Given the description of an element on the screen output the (x, y) to click on. 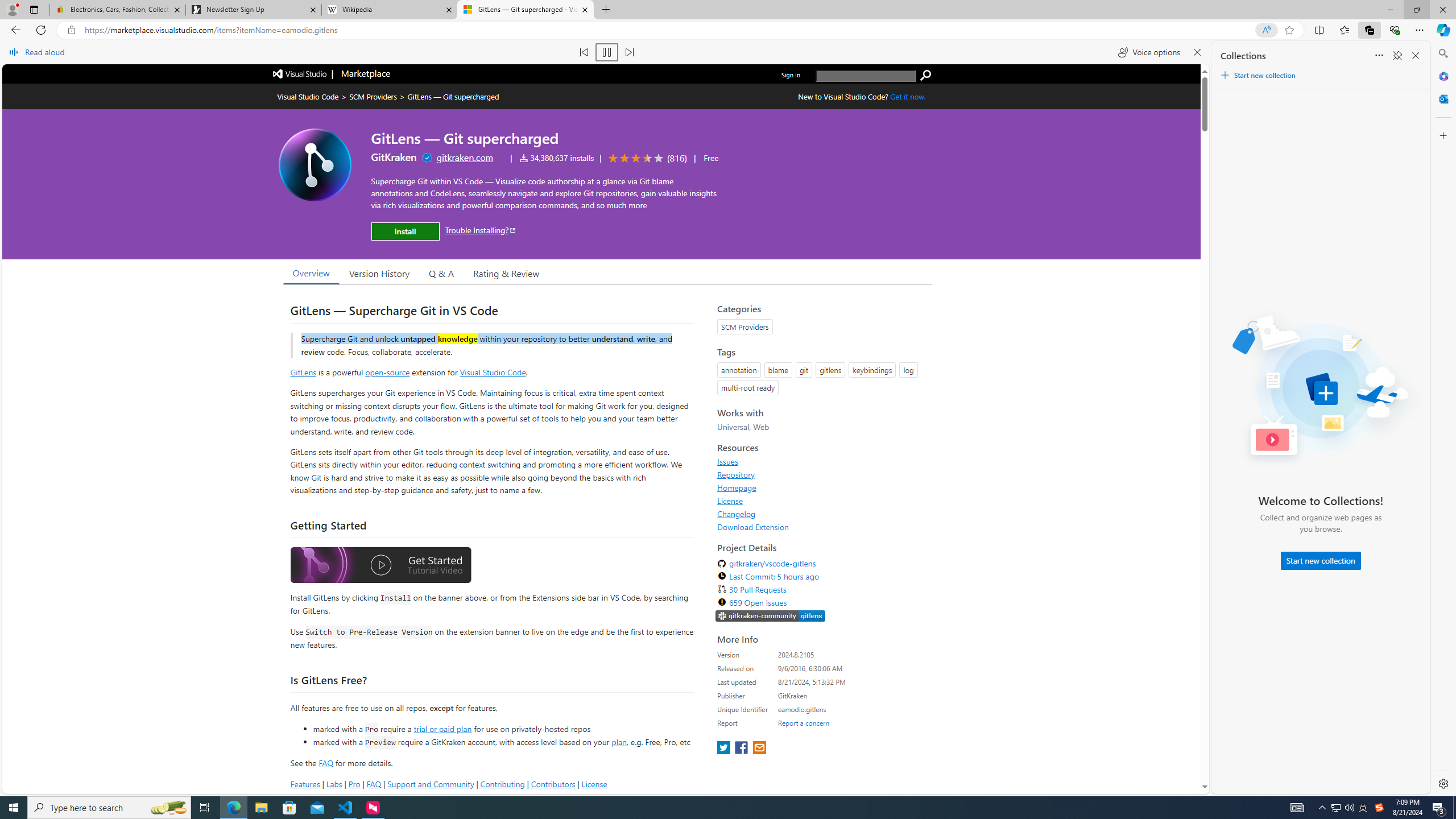
Visual Studio logo (300, 72)
Install (405, 231)
Sort (1379, 55)
plan (618, 741)
Changelog (736, 513)
Repository (820, 474)
